Given the description of an element on the screen output the (x, y) to click on. 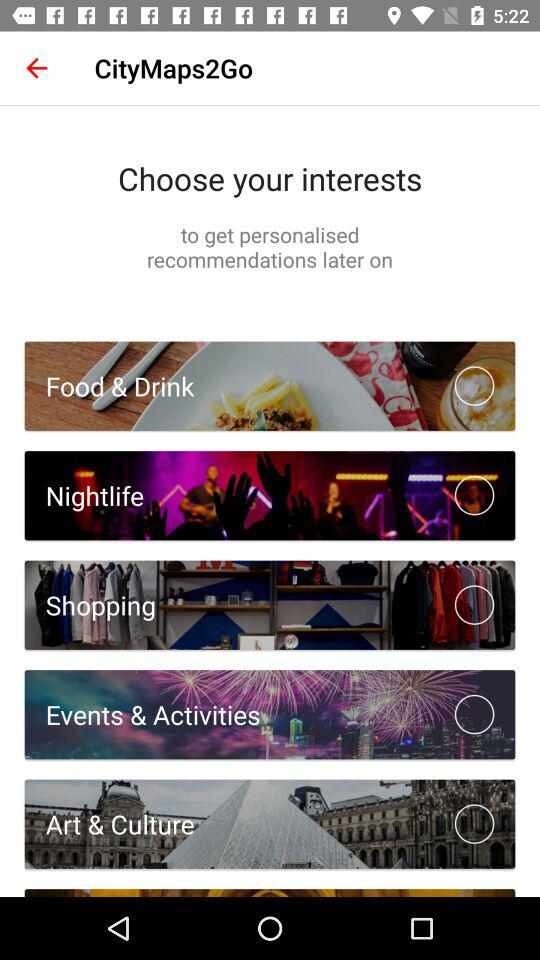
turn on the choose your interests icon (270, 178)
